Given the description of an element on the screen output the (x, y) to click on. 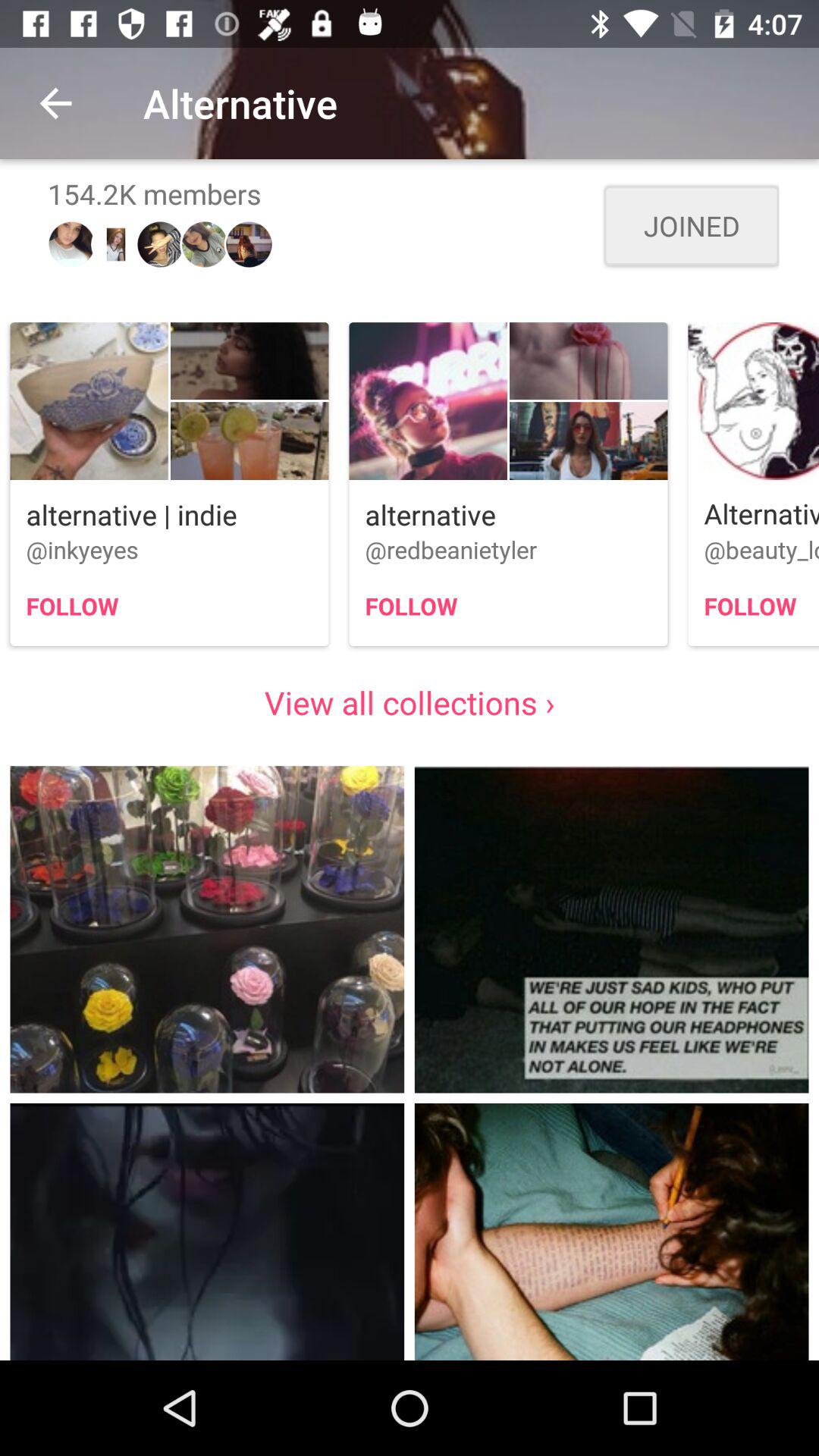
choose the item above 154.2k members (55, 103)
